Given the description of an element on the screen output the (x, y) to click on. 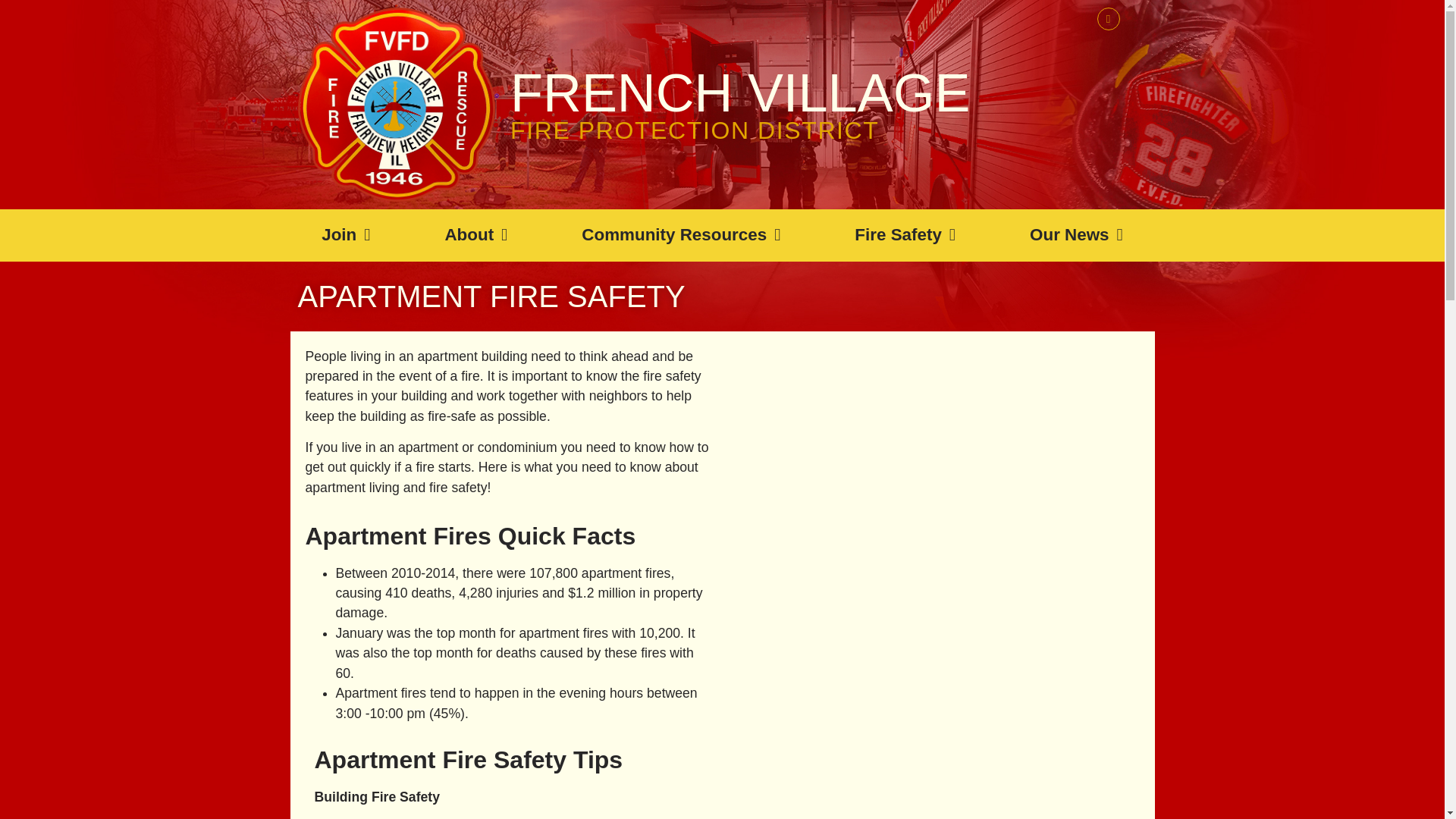
Our News (1076, 235)
FIRE PROTECTION DISTRICT (695, 130)
FRENCH VILLAGE (740, 92)
Community Resources (680, 235)
About (475, 235)
Fire Safety (905, 235)
Join (345, 235)
